Given the description of an element on the screen output the (x, y) to click on. 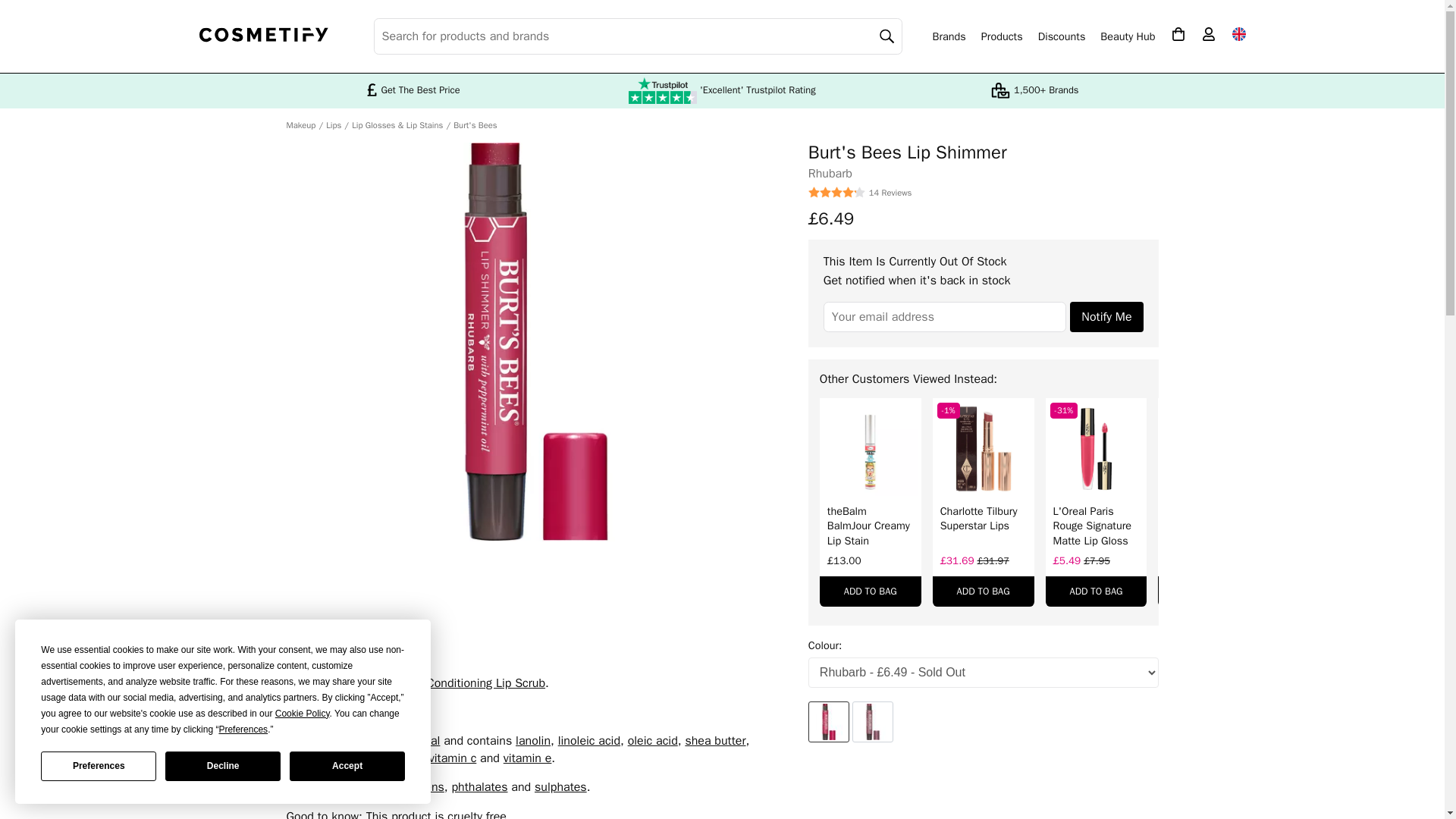
Products (1002, 36)
Discounts (1062, 36)
Accept (346, 766)
Beauty Hub (1127, 36)
Preferences (97, 766)
Decline (223, 766)
Brands (949, 36)
